Given the description of an element on the screen output the (x, y) to click on. 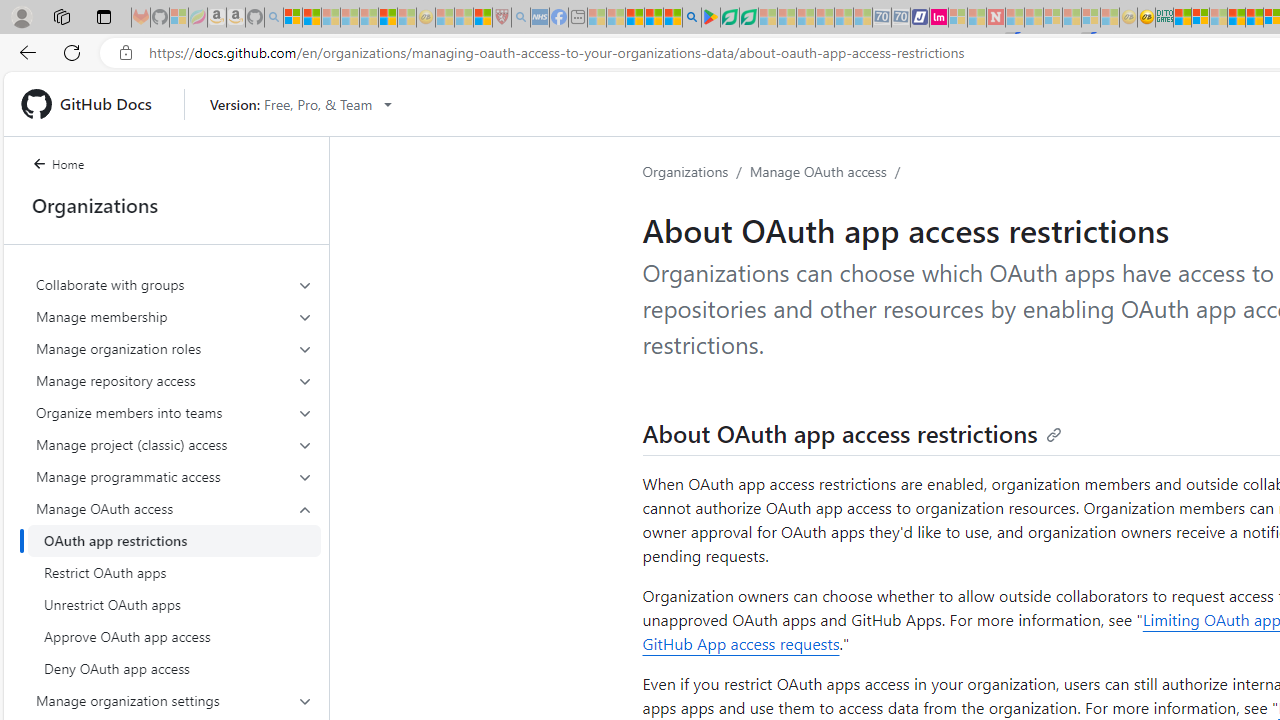
Approve OAuth app access (174, 636)
Pets - MSN (654, 17)
OAuth app restrictions (174, 540)
Manage organization roles (174, 348)
Manage organization roles (174, 348)
Manage project (classic) access (174, 444)
Manage OAuth access (174, 588)
Organizations (685, 171)
Organize members into teams (174, 412)
